Given the description of an element on the screen output the (x, y) to click on. 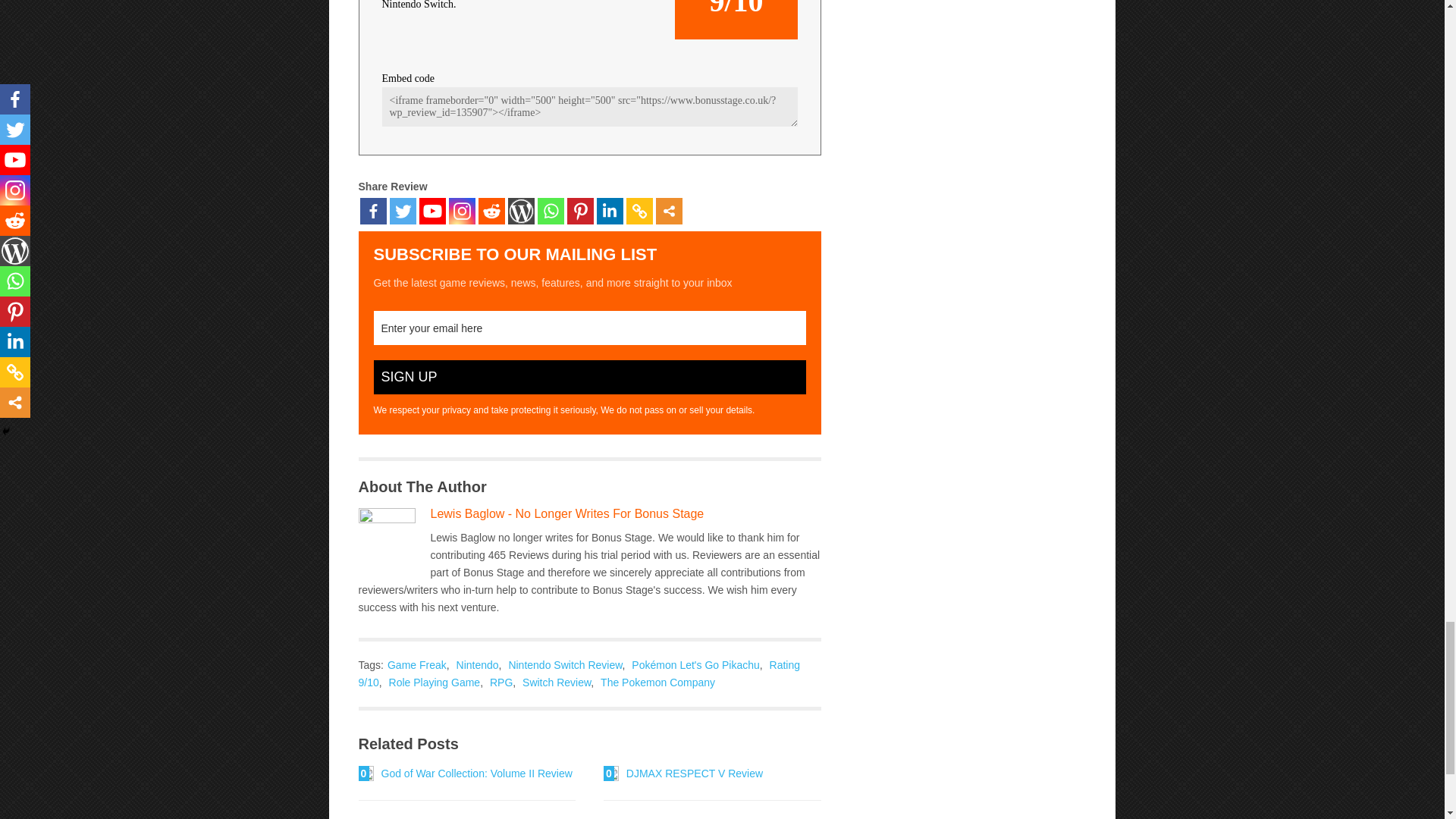
Sign Up (588, 376)
